Given the description of an element on the screen output the (x, y) to click on. 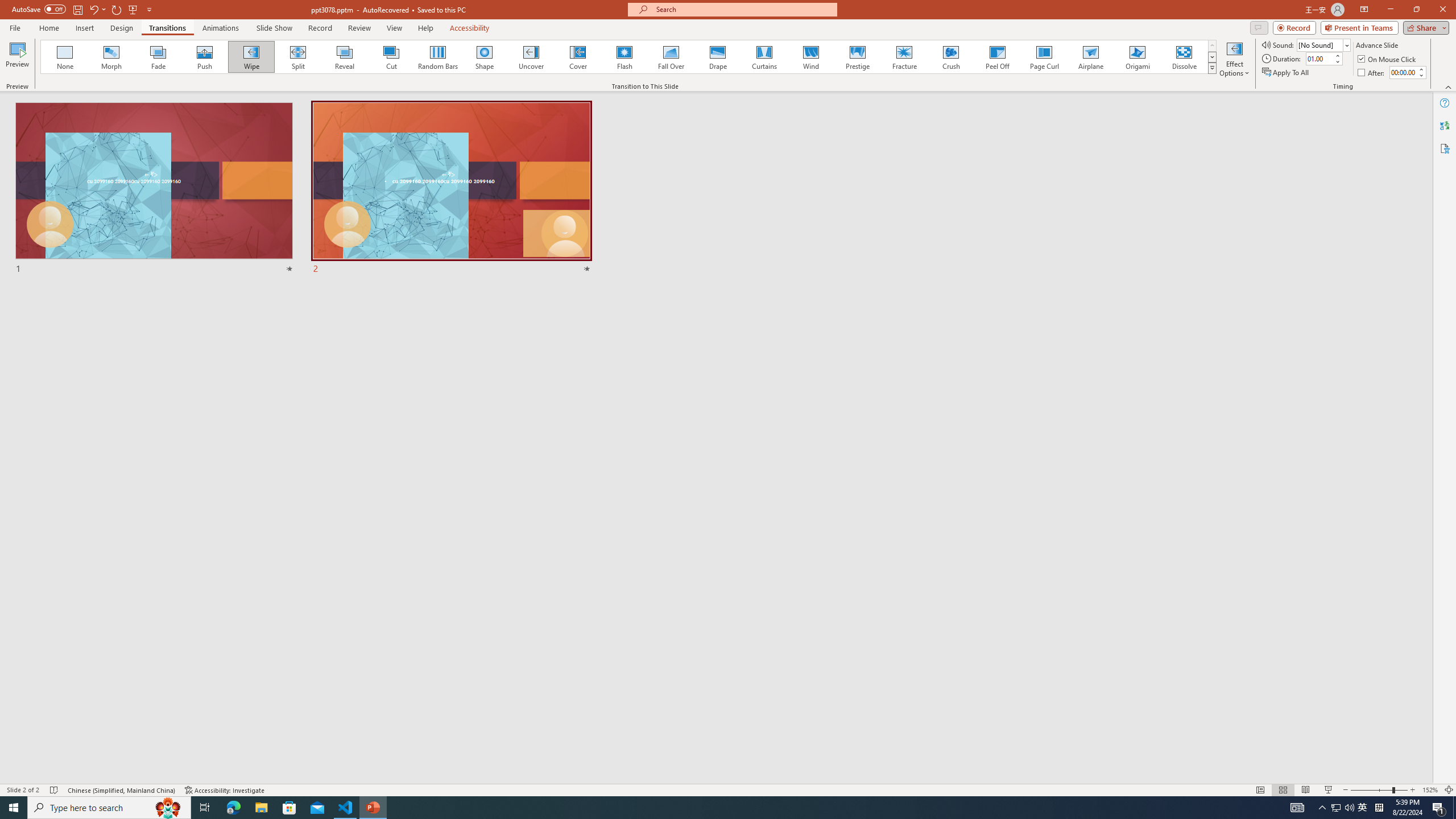
Fall Over (670, 56)
Uncover (531, 56)
